Given the description of an element on the screen output the (x, y) to click on. 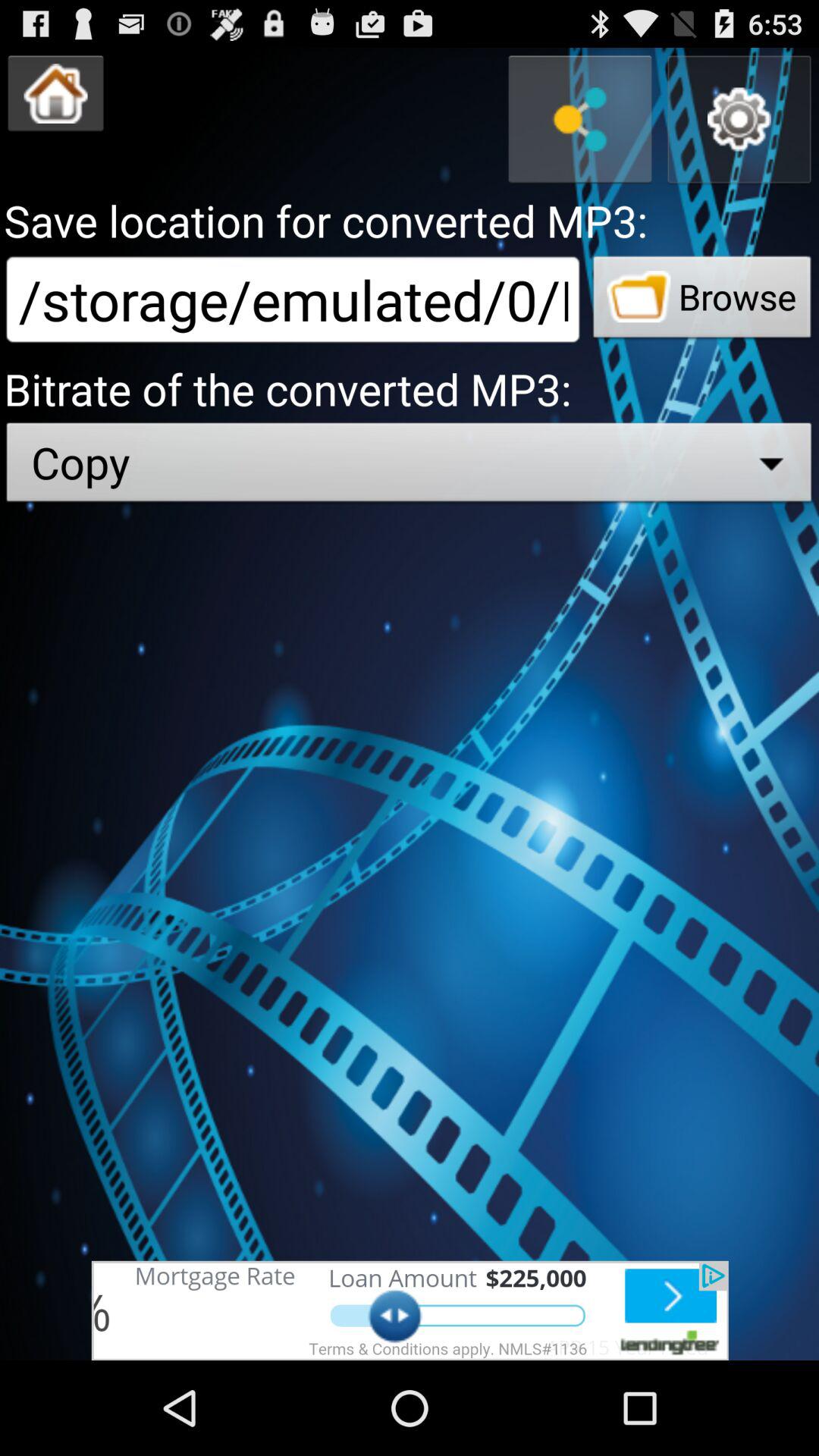
go to an advertisement (409, 1310)
